Given the description of an element on the screen output the (x, y) to click on. 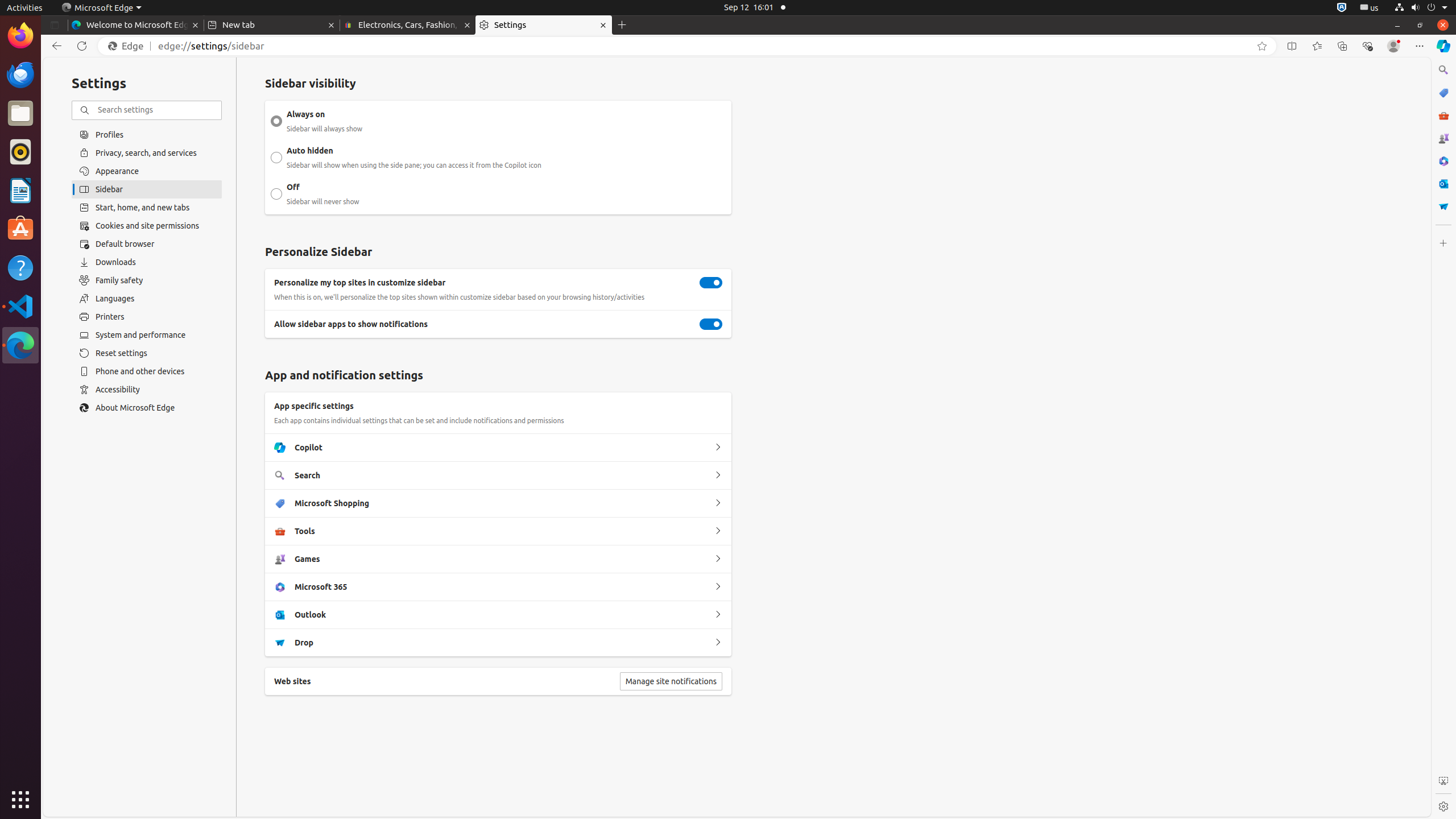
Profiles Element type: tree-item (146, 134)
LibreOffice Writer Element type: push-button (20, 190)
Family safety Element type: tree-item (146, 280)
Manage site notifications Element type: push-button (670, 681)
Microsoft Edge Element type: push-button (20, 344)
